Given the description of an element on the screen output the (x, y) to click on. 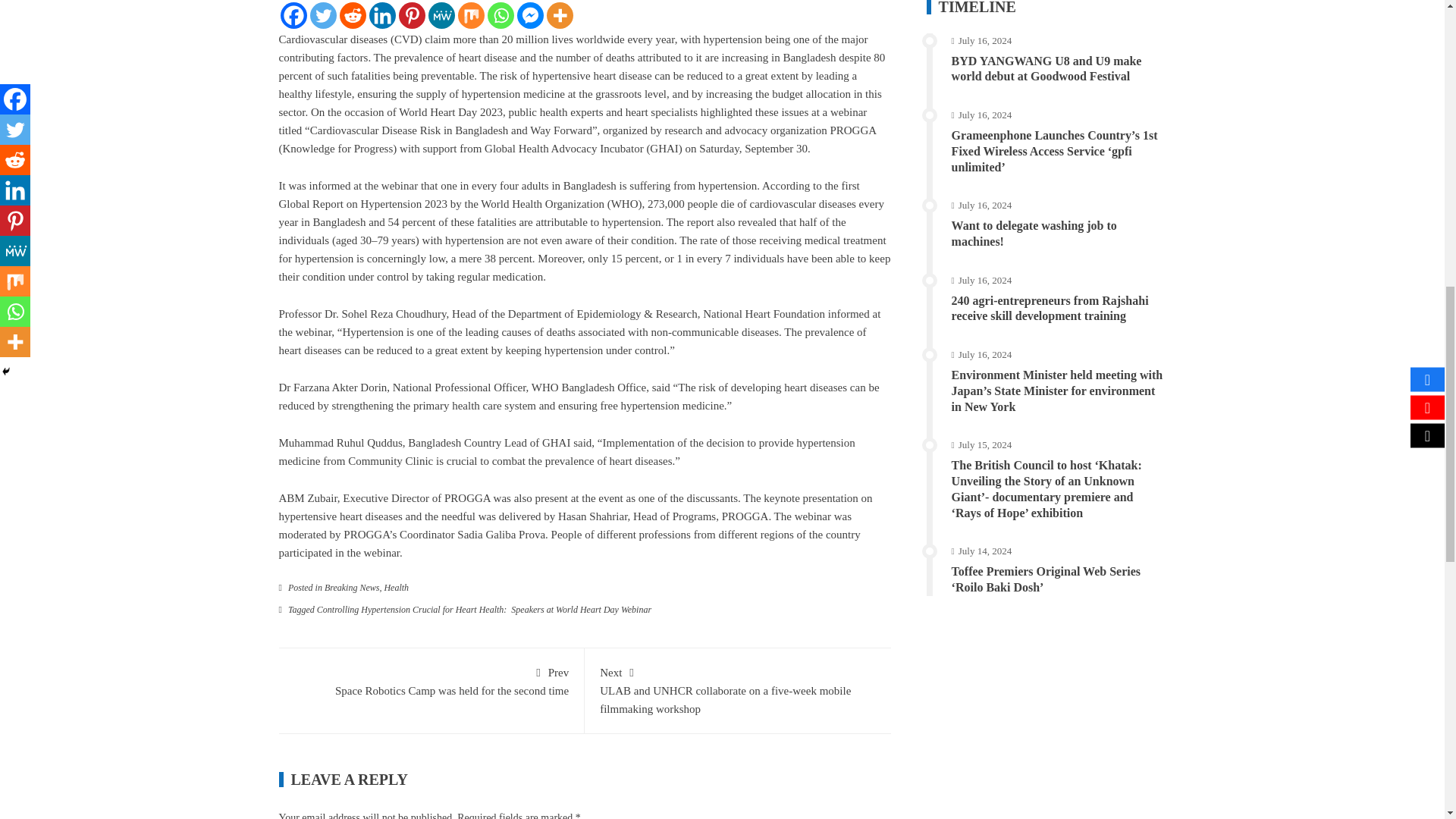
Pinterest (411, 15)
Whatsapp (499, 15)
Twitter (322, 15)
More (559, 15)
Reddit (352, 15)
Health (396, 587)
Facebook (294, 15)
Breaking News (352, 587)
Mix (471, 15)
MeWe (441, 15)
Linkedin (381, 15)
